Given the description of an element on the screen output the (x, y) to click on. 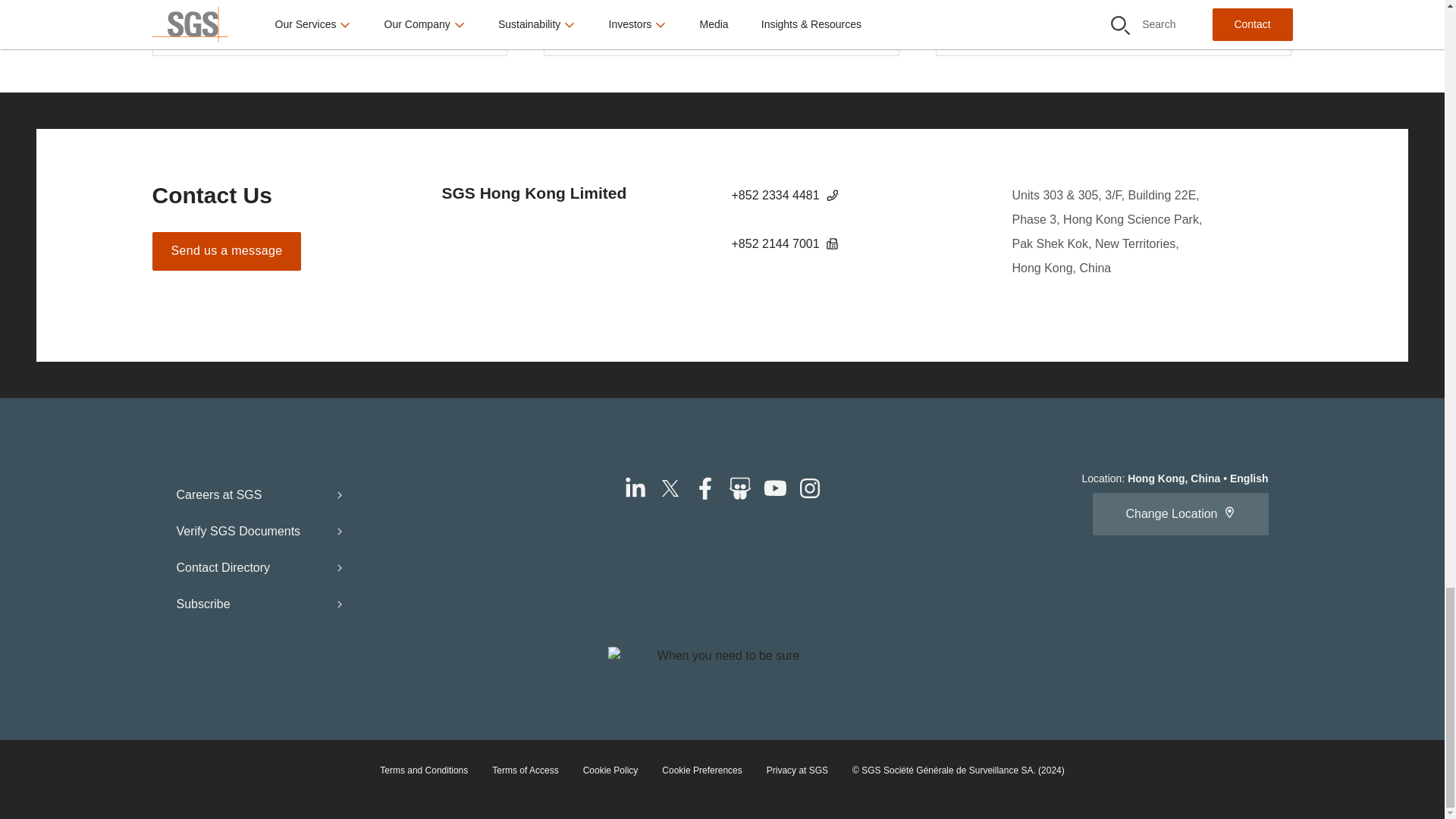
Send us a message (226, 251)
